Given the description of an element on the screen output the (x, y) to click on. 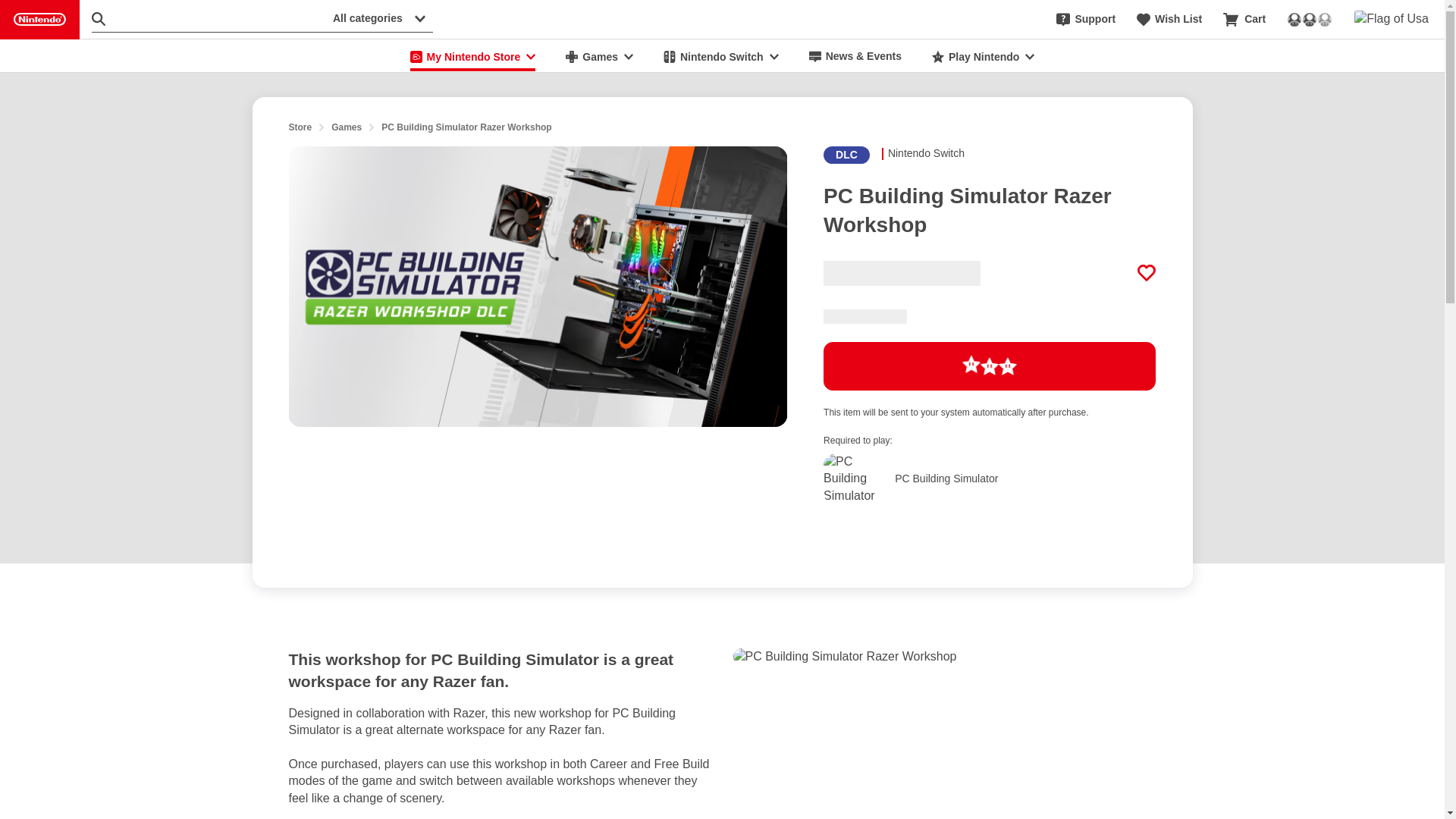
Store (299, 127)
Games (599, 56)
Support (1086, 19)
Cart (1244, 19)
Nintendo (40, 19)
My Nintendo Store (472, 56)
Nintendo Switch (720, 56)
Loading (990, 366)
Play Nintendo (983, 56)
Wish List (990, 469)
Add to Wish List (1169, 19)
Games (1146, 272)
